Given the description of an element on the screen output the (x, y) to click on. 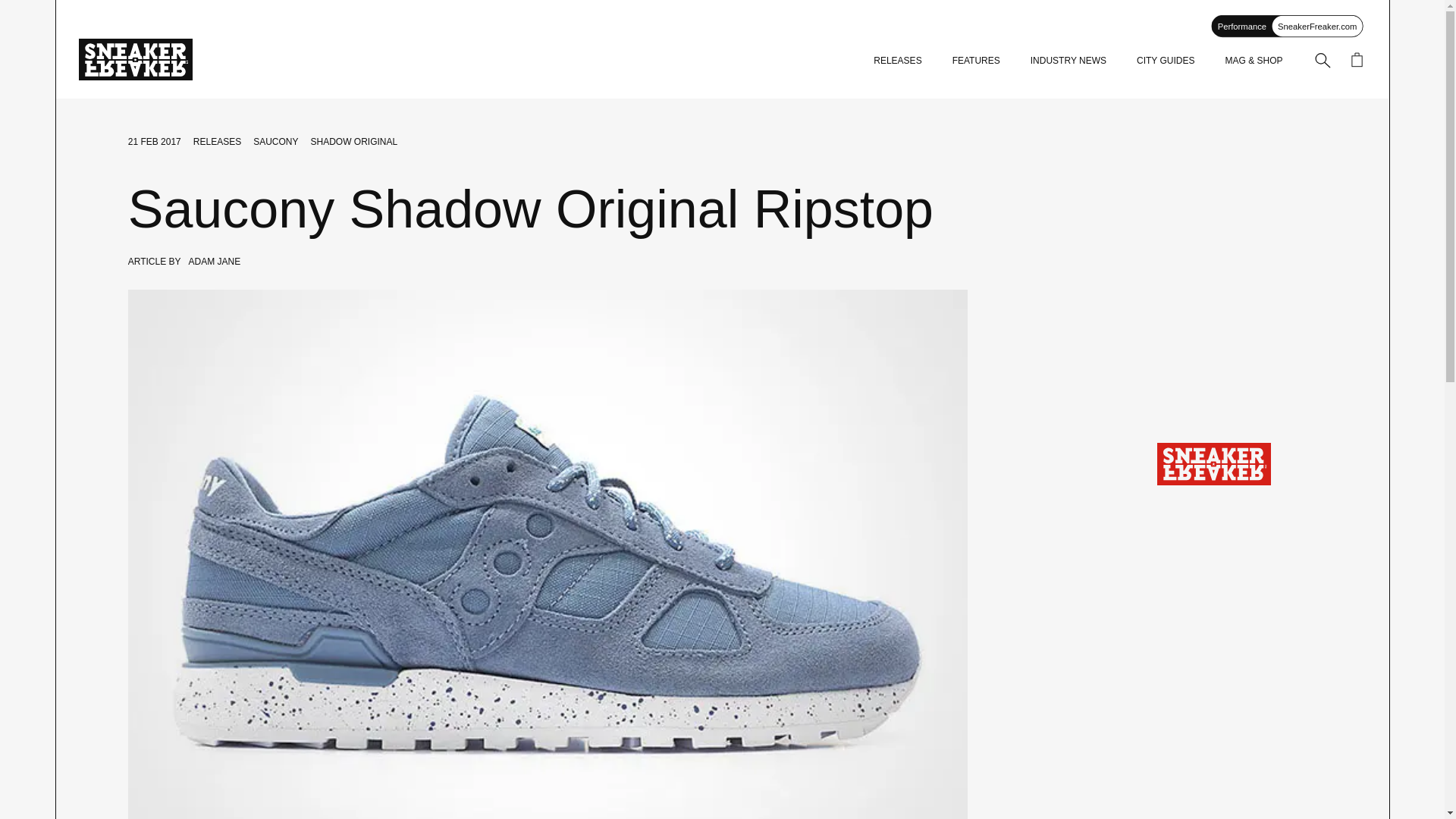
FEATURES (976, 60)
INDUSTRY NEWS (1068, 60)
CITY GUIDES (1165, 60)
SHADOW ORIGINAL (354, 141)
RELEASES (897, 60)
RELEASES (217, 141)
SAUCONY (275, 141)
